Given the description of an element on the screen output the (x, y) to click on. 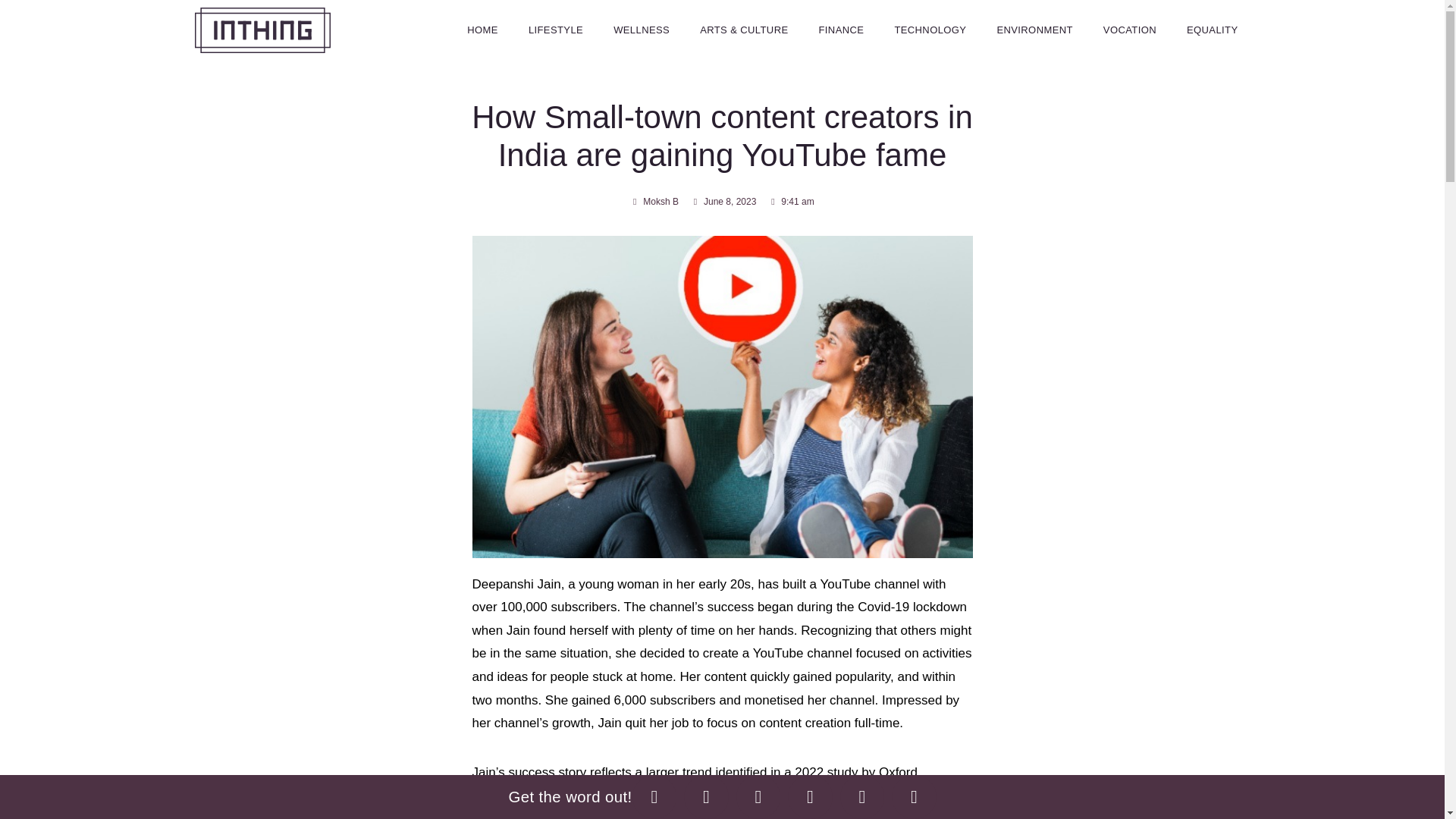
VOCATION (1129, 30)
LIFESTYLE (555, 30)
ENVIRONMENT (1034, 30)
June 8, 2023 (722, 201)
EQUALITY (1212, 30)
TECHNOLOGY (930, 30)
WELLNESS (641, 30)
FINANCE (841, 30)
Moksh B (654, 201)
HOME (482, 30)
